Given the description of an element on the screen output the (x, y) to click on. 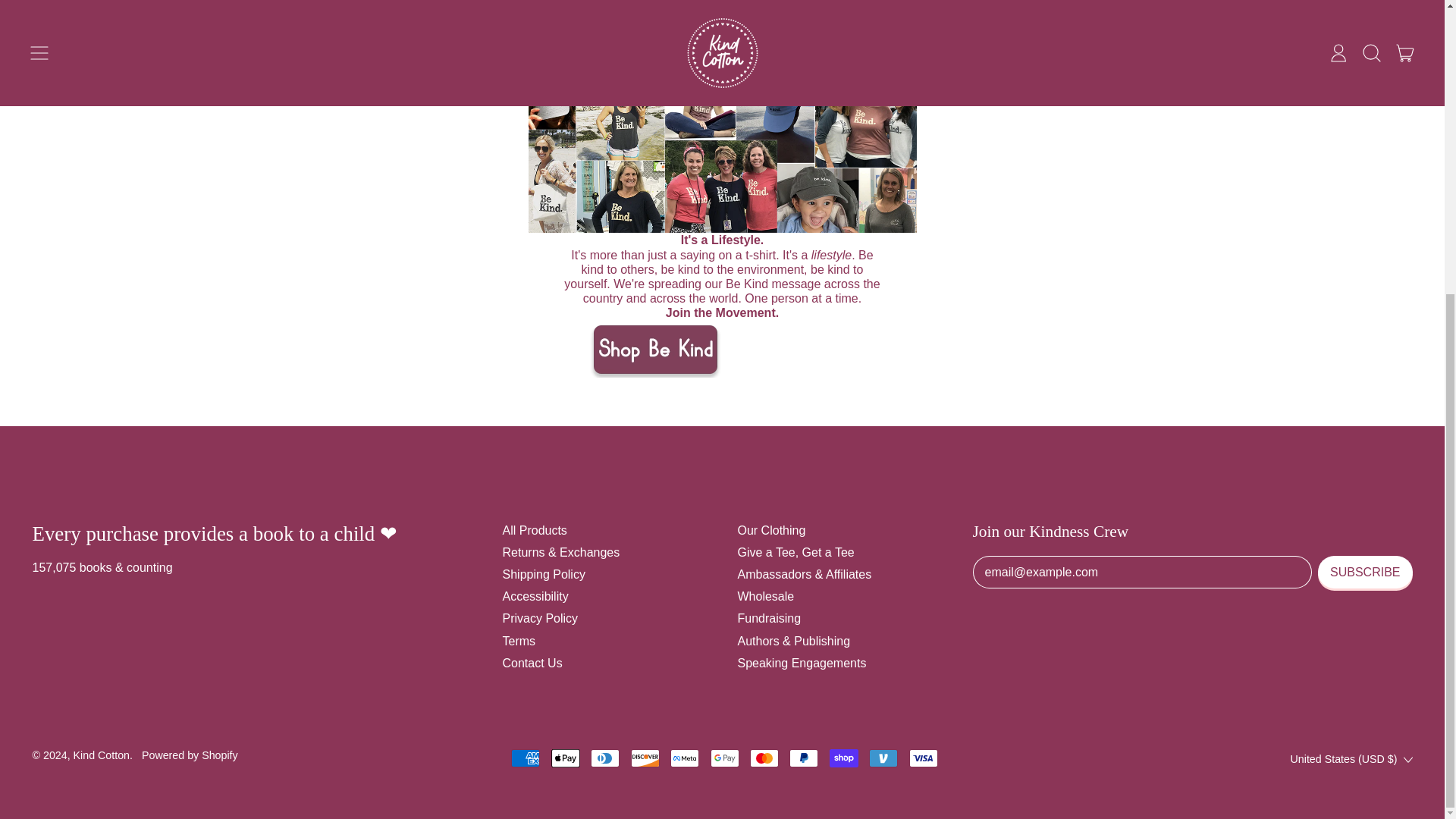
Contact Us (532, 662)
Accessibility (534, 595)
Fundraising (768, 617)
Our Clothing (770, 530)
Wholesale (764, 595)
SUBSCRIBE (1364, 572)
All Products (534, 530)
Powered by Shopify (189, 755)
Give a Tee, Get a Tee (794, 552)
Speaking Engagements (801, 662)
